Given the description of an element on the screen output the (x, y) to click on. 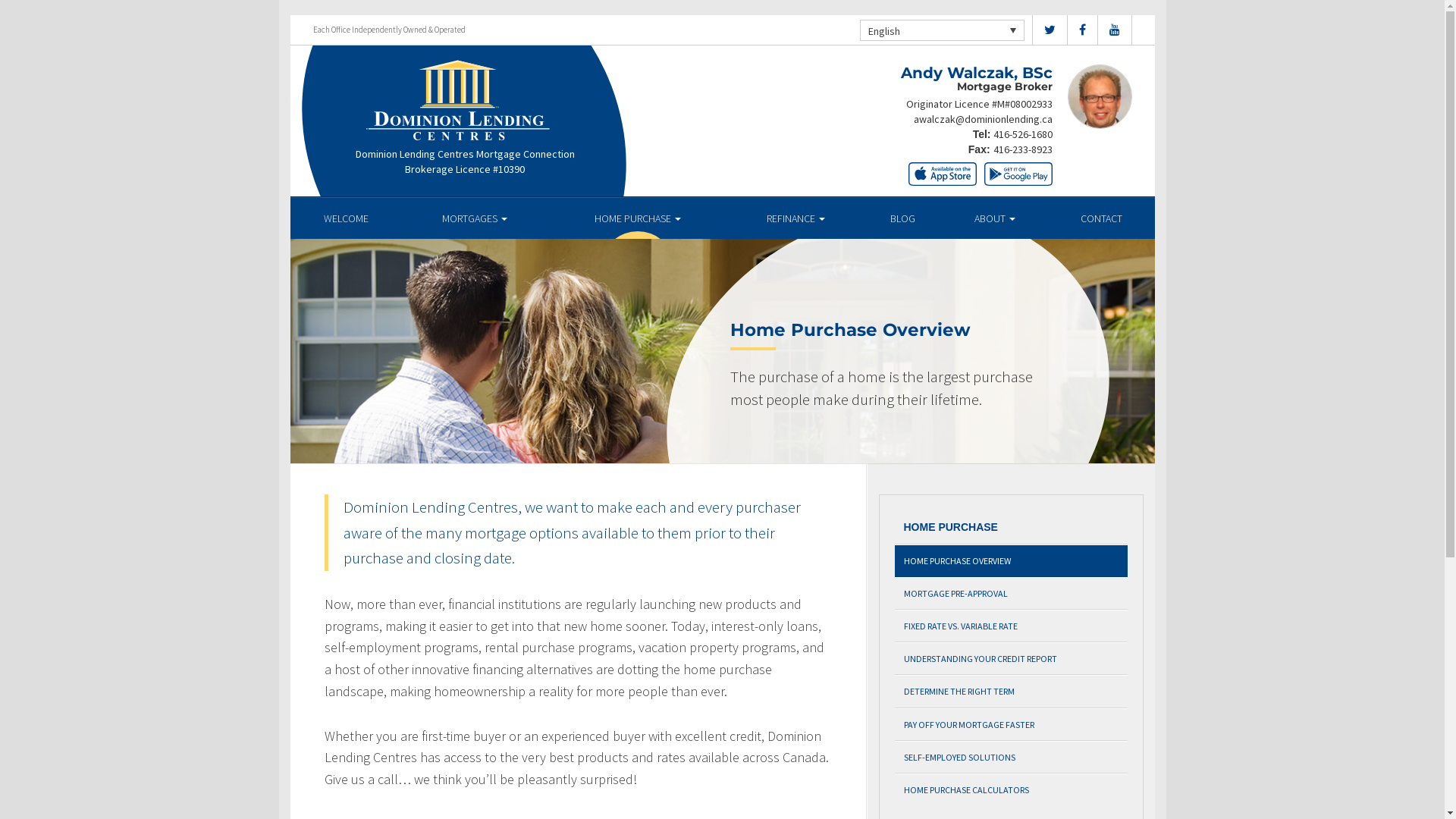
MORTGAGES Element type: text (474, 217)
UNDERSTANDING YOUR CREDIT REPORT Element type: text (1010, 658)
awalczak@dominionlending.ca Element type: text (982, 118)
HOME PURCHASE CALCULATORS Element type: text (1010, 789)
HOME PURCHASE OVERVIEW Element type: text (1010, 560)
CONTACT Element type: text (1101, 217)
HOME PURCHASE Element type: text (637, 217)
English Element type: text (941, 29)
DETERMINE THE RIGHT TERM Element type: text (1010, 690)
SELF-EMPLOYED SOLUTIONS Element type: text (1010, 756)
FIXED RATE VS. VARIABLE RATE Element type: text (1010, 625)
416-233-8923 Element type: text (1022, 149)
MORTGAGE PRE-APPROVAL Element type: text (1010, 593)
PAY OFF YOUR MORTGAGE FASTER Element type: text (1010, 724)
WELCOME Element type: text (345, 217)
BLOG Element type: text (901, 217)
416-526-1680 Element type: text (1022, 134)
ABOUT Element type: text (994, 217)
HOME PURCHASE Element type: text (1010, 527)
REFINANCE Element type: text (795, 217)
